Given the description of an element on the screen output the (x, y) to click on. 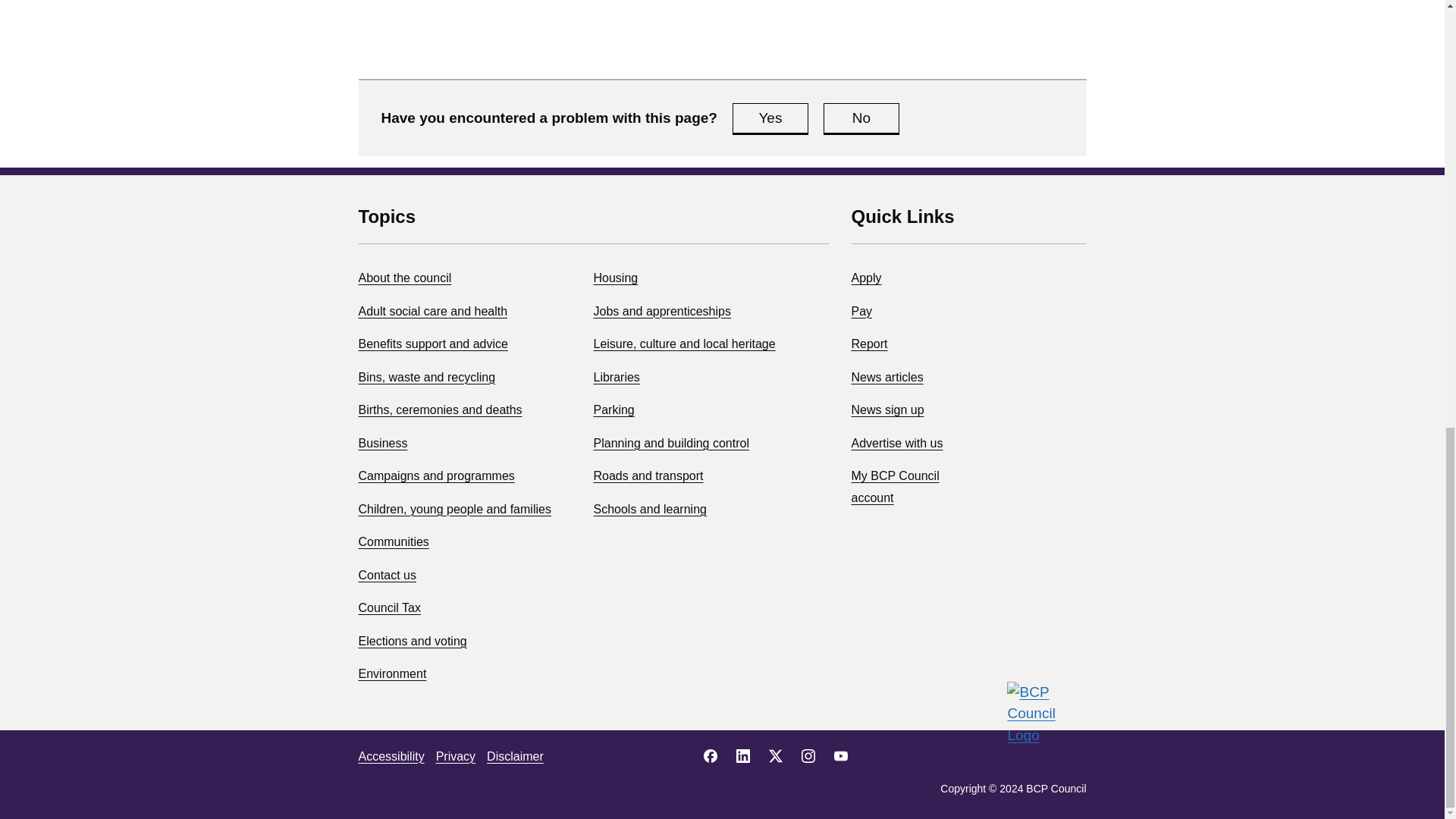
Elections and voting (411, 640)
Communities (393, 541)
BCP council on Facebook (710, 755)
About the council (404, 277)
Schools and learning (649, 508)
Libraries (615, 377)
No (861, 118)
Roads and transport (647, 475)
Benefits support and advice (432, 343)
BCP council on Twitter (775, 755)
Planning and building control (670, 442)
Business (382, 442)
Parking (612, 409)
Children, young people and families (454, 508)
Leisure, culture and local heritage (683, 343)
